Given the description of an element on the screen output the (x, y) to click on. 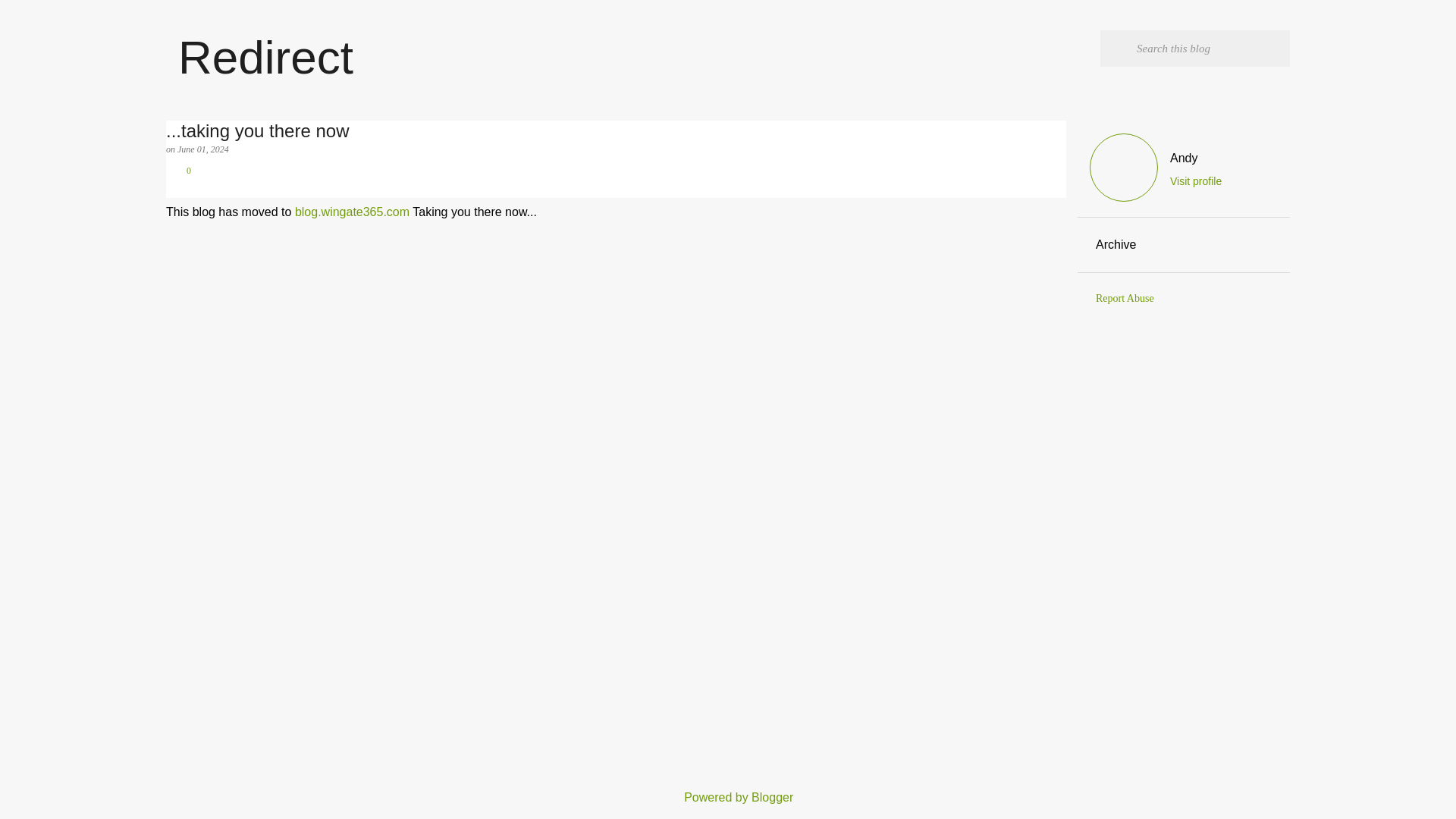
June 01, 2024 (202, 149)
Visit profile (1194, 181)
Powered by Blogger (727, 797)
Andy (1194, 158)
permanent link (202, 149)
blog.wingate365.com (352, 211)
0 (177, 170)
Redirect (265, 57)
...taking you there now (615, 130)
Report Abuse (1125, 297)
